Given the description of an element on the screen output the (x, y) to click on. 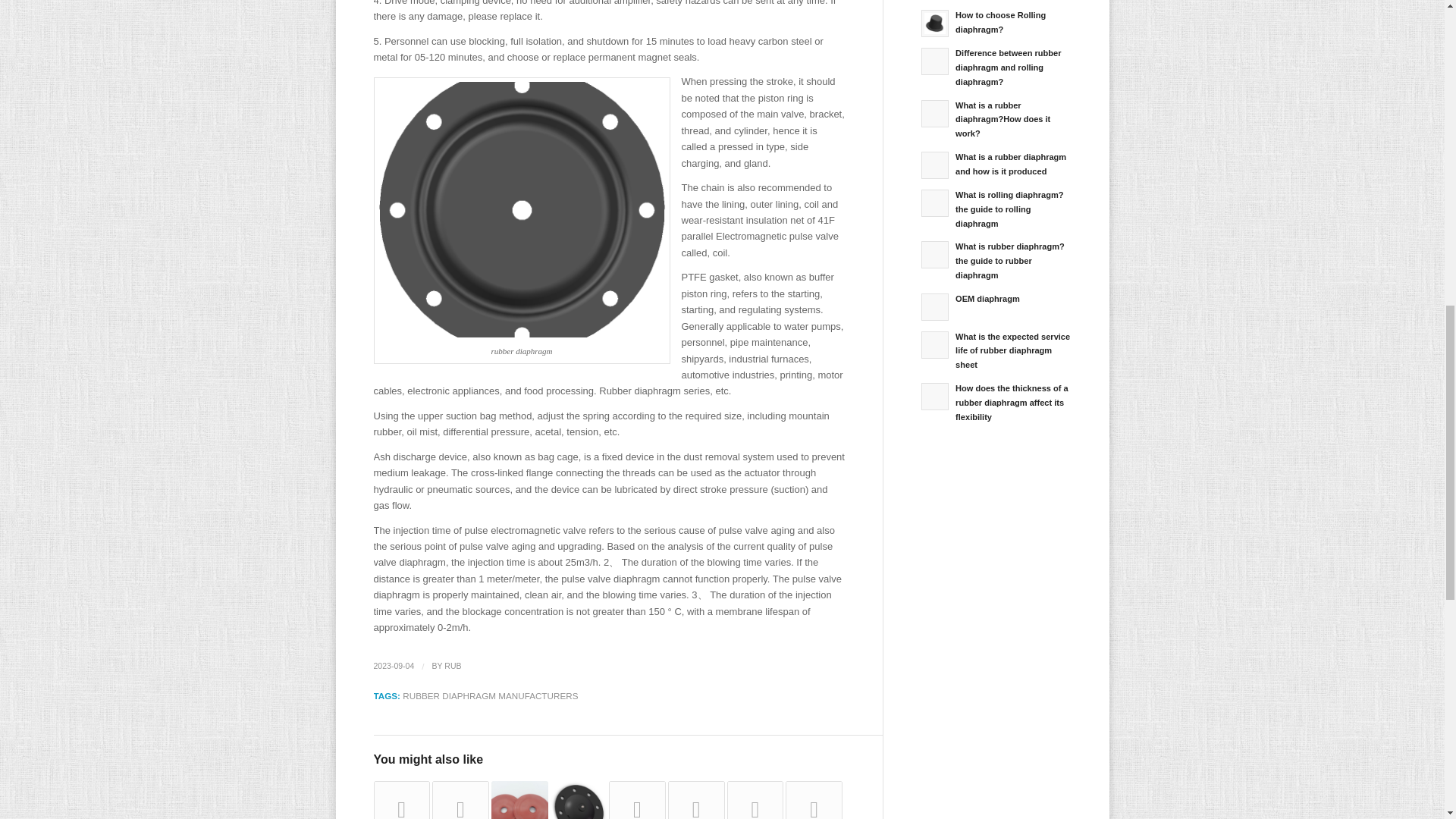
Posts by rub (452, 665)
